Given the description of an element on the screen output the (x, y) to click on. 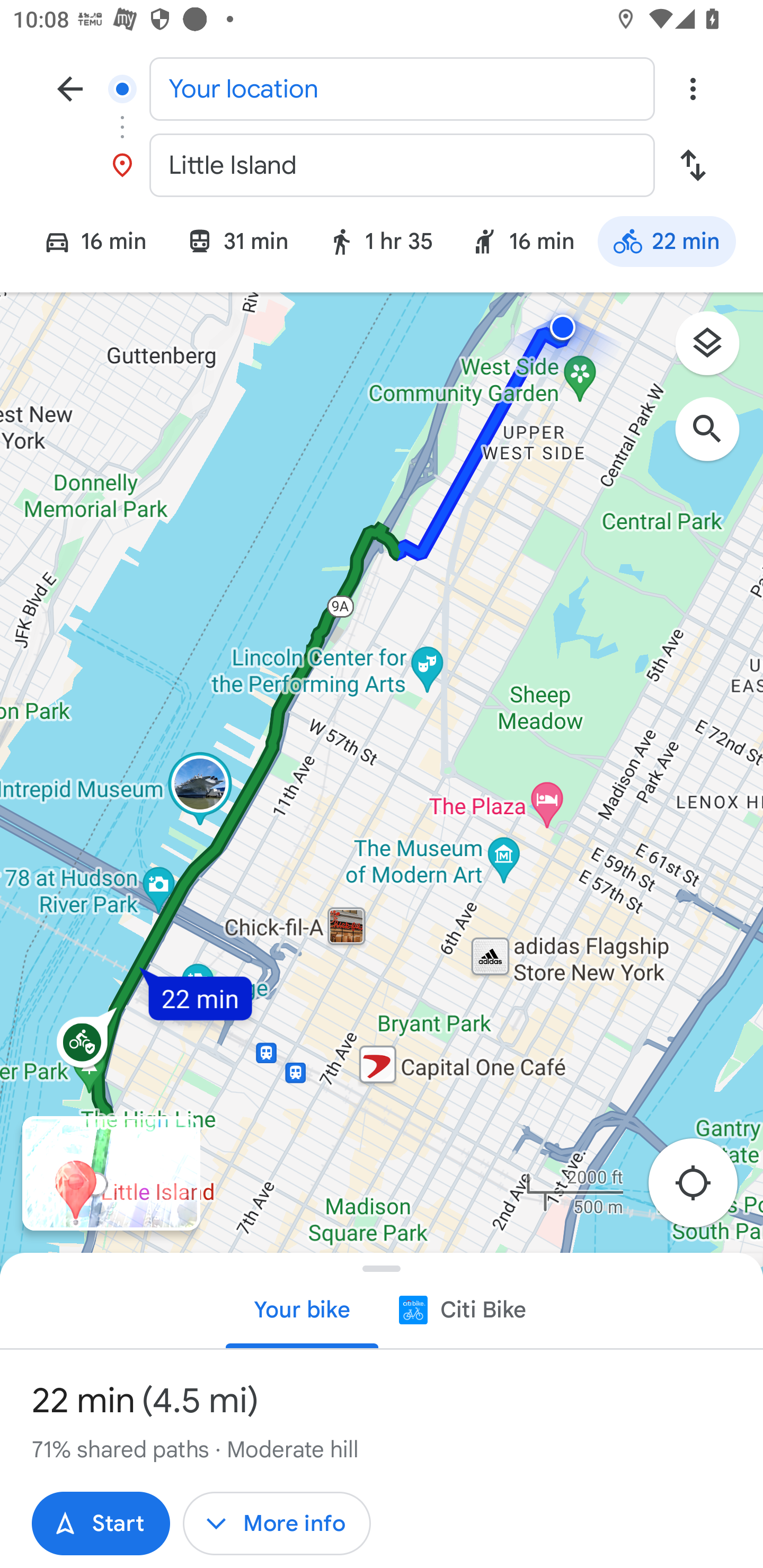
Navigate up (70, 88)
Your location Start location, Your location (381, 88)
Overflow menu (692, 88)
Little Island Destination, Little Island (381, 165)
Swap start and destination (692, 165)
Driving mode: 16 min 16 min (86, 244)
Transit mode: 31 min 31 min (236, 244)
Walking mode: 1 hr 35 1 hr 35 (379, 244)
Ride service: 16 min 16 min (522, 244)
Layers (716, 349)
Search along route (716, 438)
Open Immersive View for routes (110, 1173)
Re-center map to your location (702, 1188)
Citi Bike (460, 1309)
More info More info More info (276, 1522)
